Given the description of an element on the screen output the (x, y) to click on. 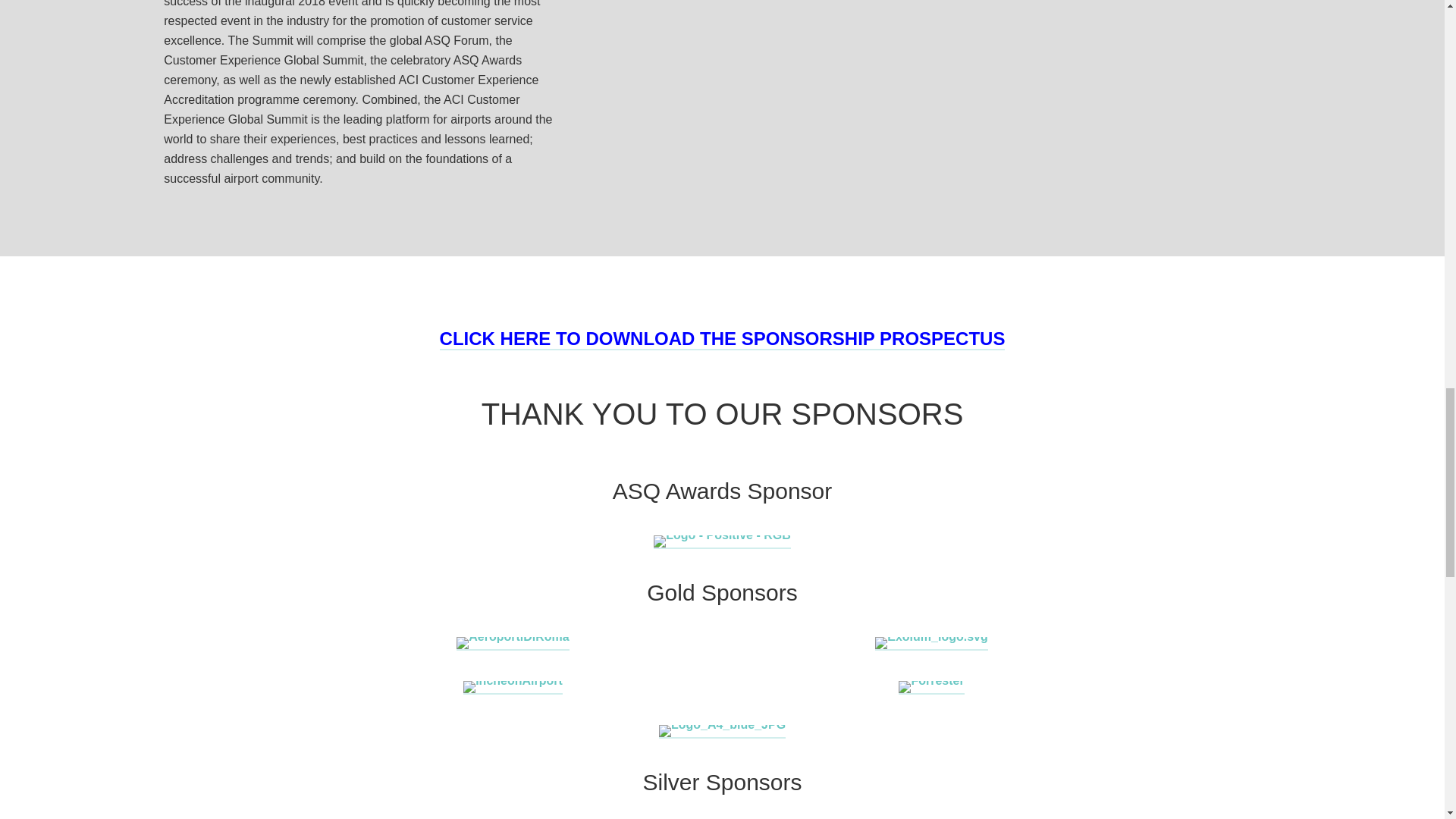
Logo - Positive - RGB (721, 534)
CLICK HERE TO DOWNLOAD THE SPONSORSHIP PROSPECTUS (722, 339)
Forrester (930, 680)
AeroportiDiRoma (513, 635)
IncheonAirport (512, 680)
CLICK HERE TO DOWNLOAD THE SPONSORSHIP PROSPECTUS (722, 339)
